Given the description of an element on the screen output the (x, y) to click on. 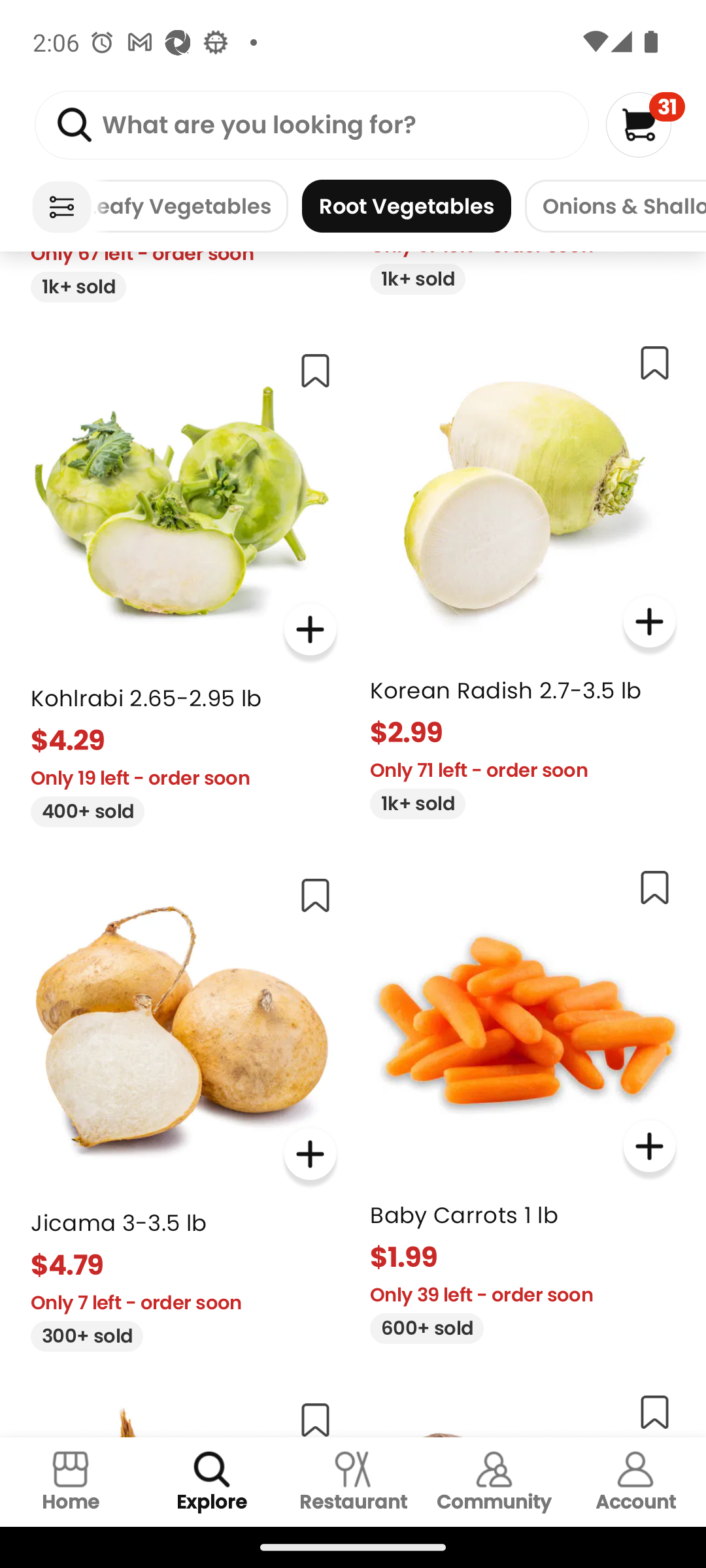
What are you looking for? (311, 124)
31 (644, 124)
Leafy Vegetables (190, 206)
Root Vegetables (406, 206)
Onions & Shallots (615, 206)
Home (70, 1482)
Explore (211, 1482)
Restaurant (352, 1482)
Community (493, 1482)
Account (635, 1482)
